Given the description of an element on the screen output the (x, y) to click on. 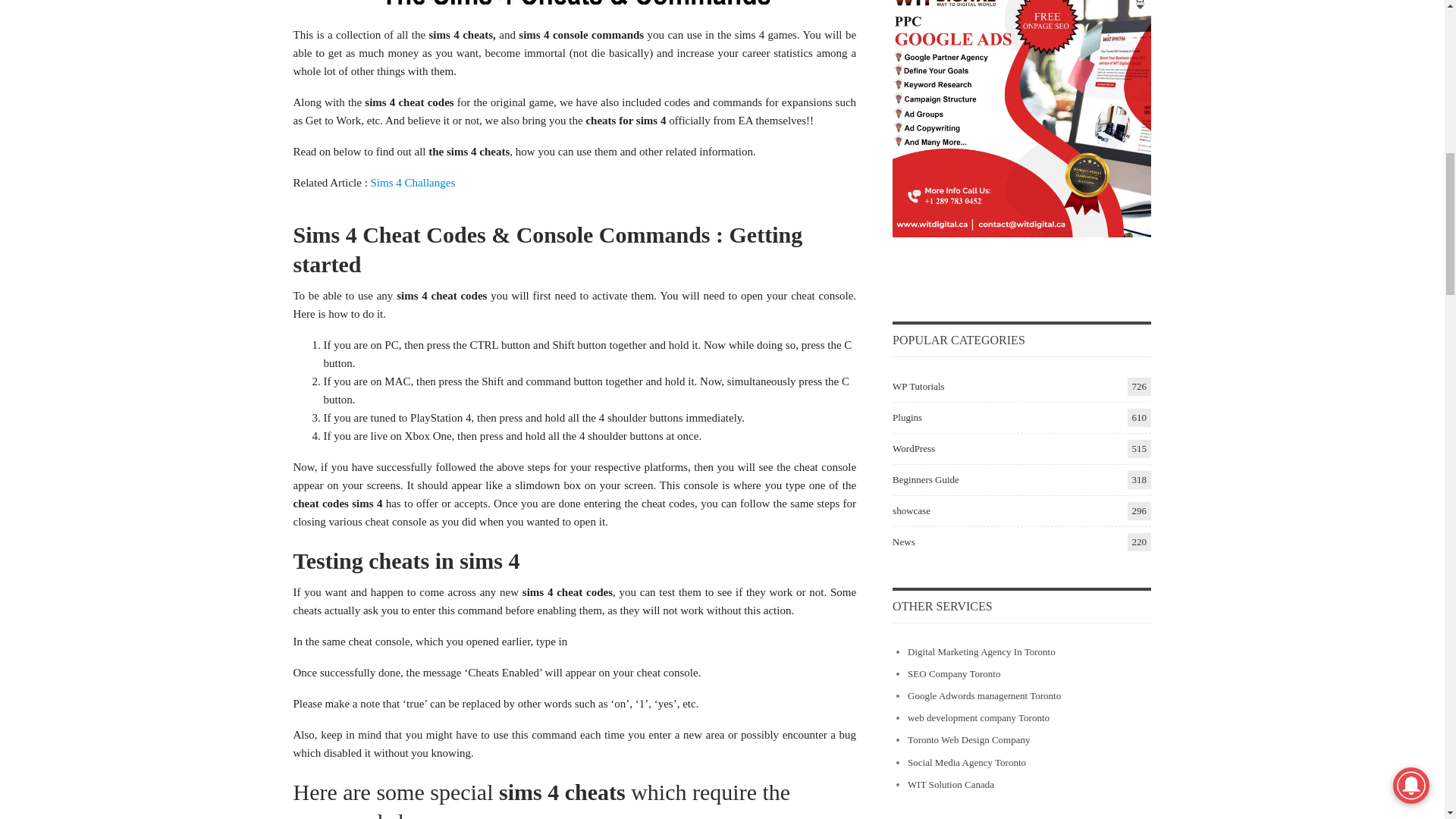
Digital Marketing Agency In Toronto (981, 651)
